Given the description of an element on the screen output the (x, y) to click on. 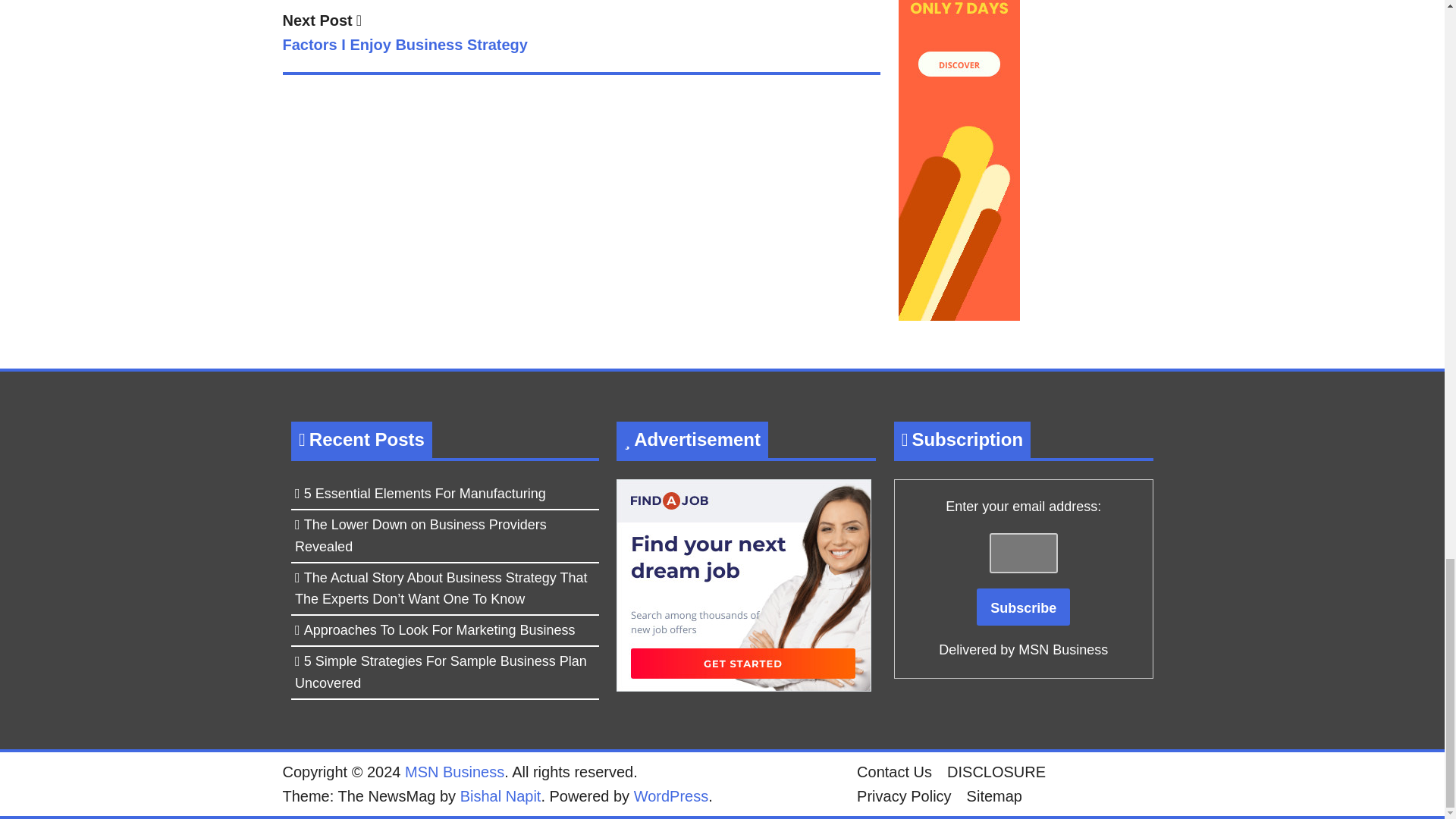
Bishal Napit (500, 795)
Subscribe (581, 34)
WordPress (1023, 606)
MSN Business (671, 795)
